Given the description of an element on the screen output the (x, y) to click on. 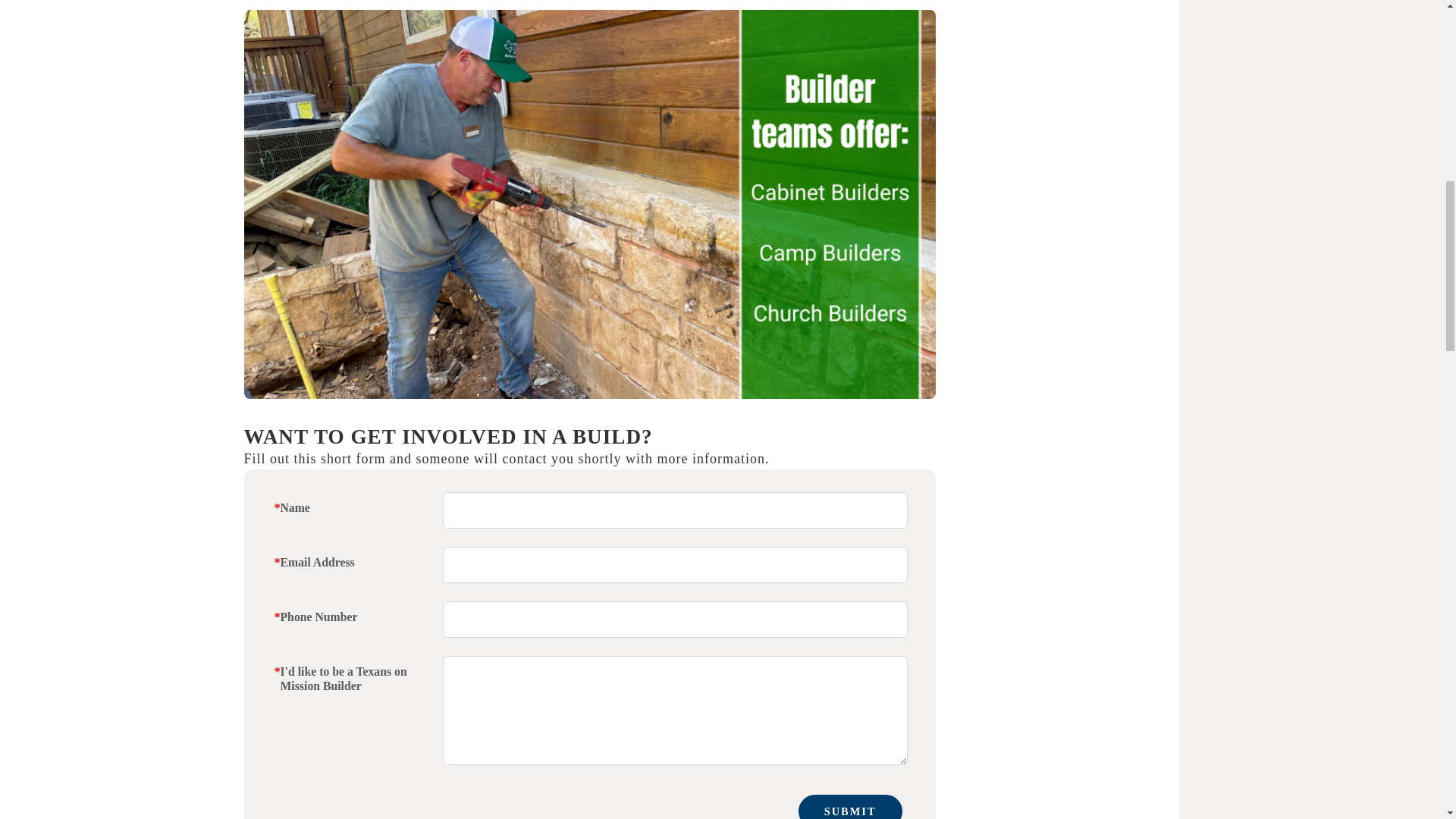
I'd like to be a Texans on Mission Builder (674, 710)
Email Address (674, 565)
SUBMIT (849, 806)
Phone Number (674, 619)
Name (674, 510)
